Given the description of an element on the screen output the (x, y) to click on. 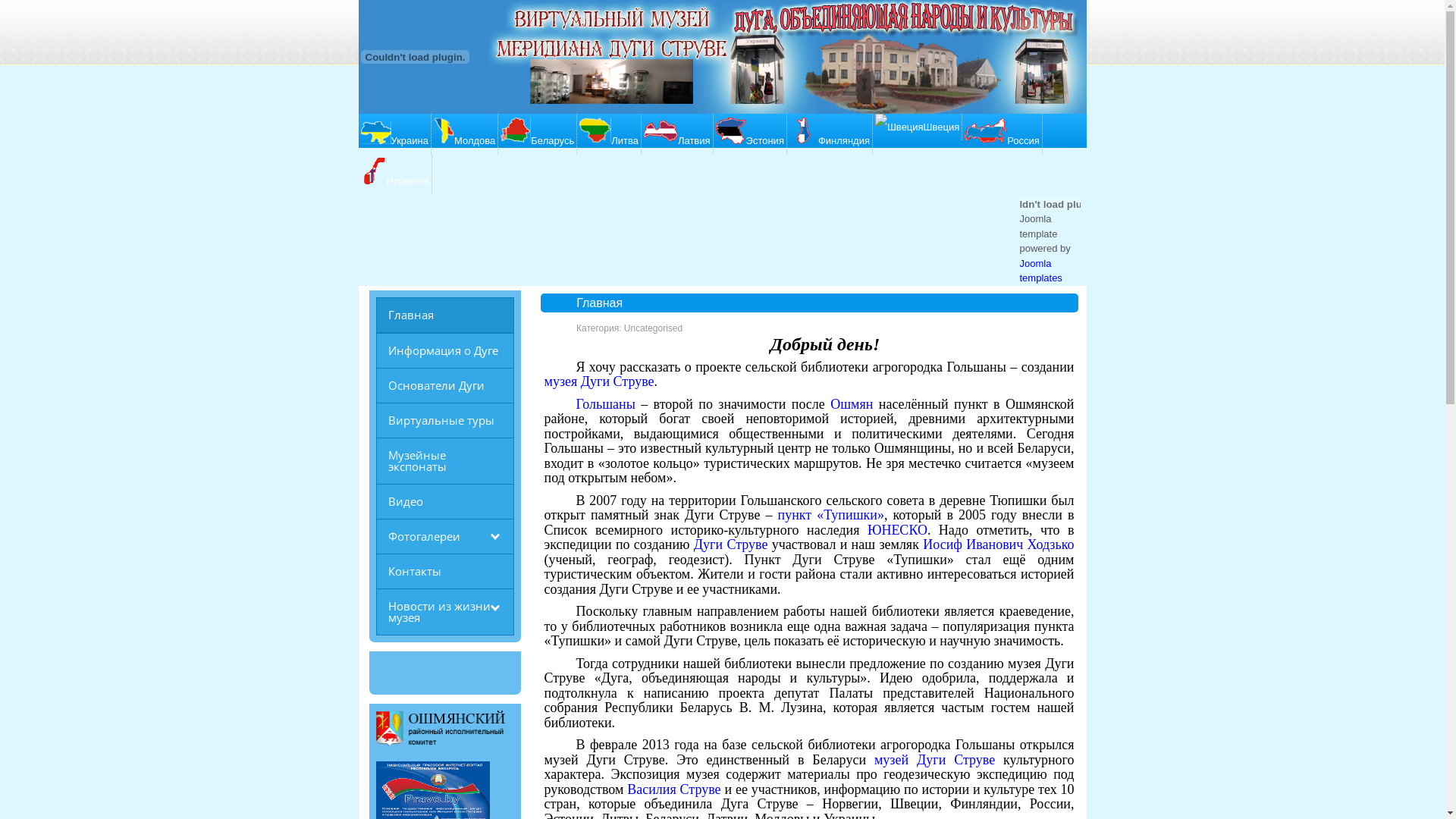
Joomla templates Element type: text (1040, 270)
Uncategorised Element type: text (653, 328)
